Given the description of an element on the screen output the (x, y) to click on. 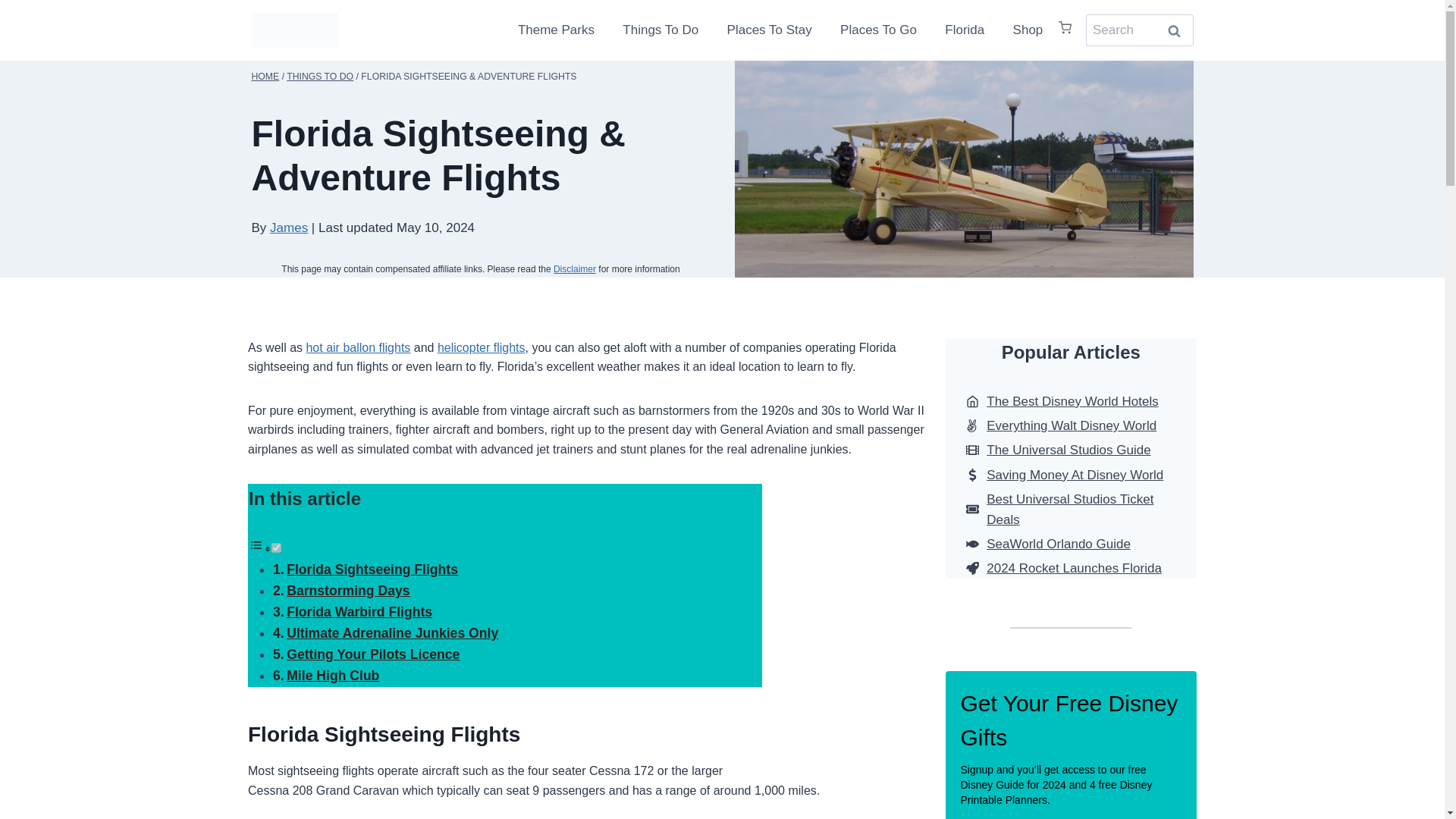
Barnstorming Days (347, 590)
on (275, 547)
Florida Sightseeing Flights (372, 569)
Mile High Club (332, 675)
Theme Parks (562, 30)
Search (1174, 30)
Getting Your Pilots Licence (373, 654)
Florida Warbird Flights (359, 611)
Search (1174, 30)
